Given the description of an element on the screen output the (x, y) to click on. 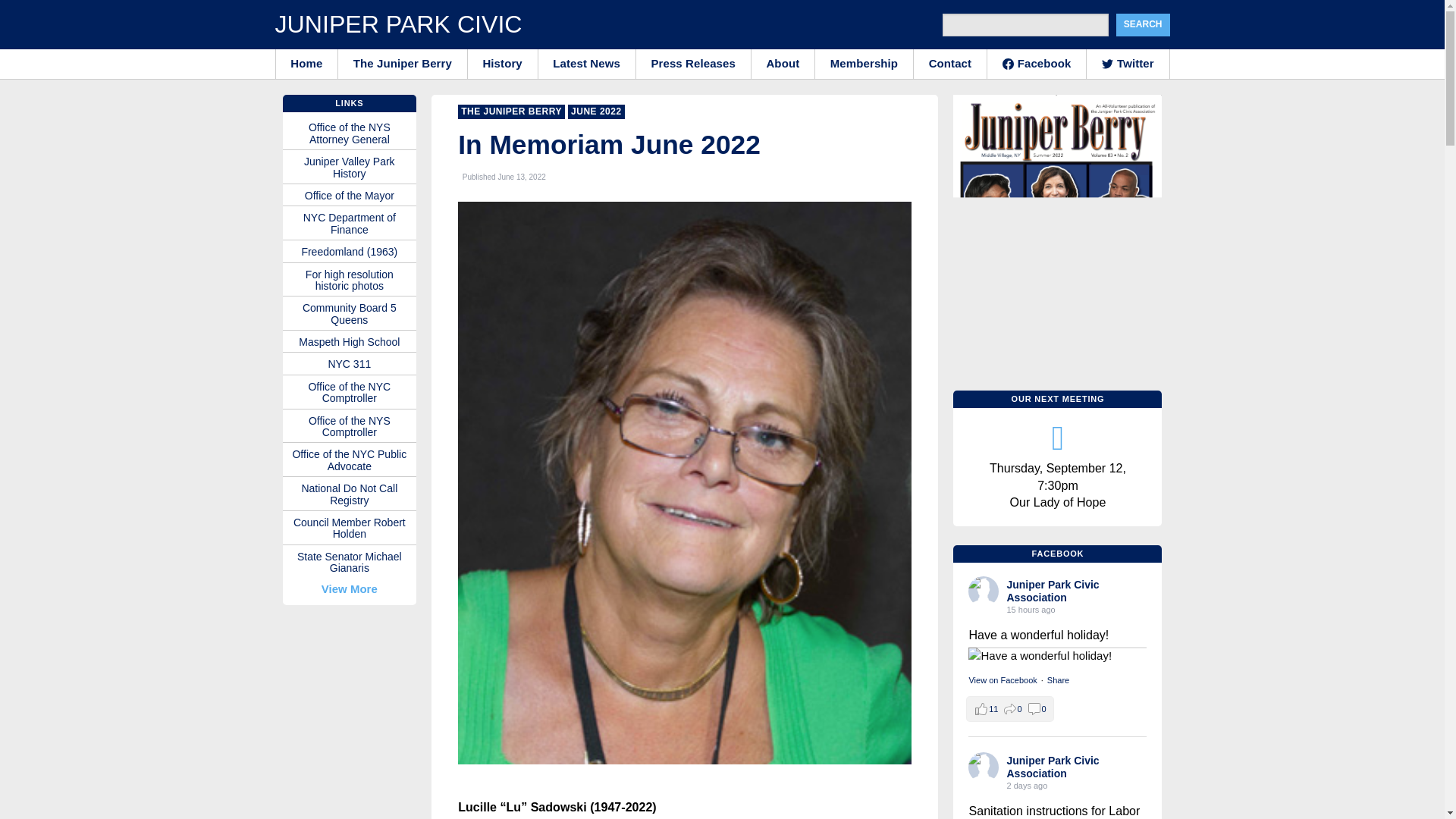
Home (306, 63)
Facebook (1036, 63)
Latest News (586, 63)
Contact (950, 63)
Press Releases (693, 63)
JUNIPER PARK CIVIC (398, 23)
Twitter (1127, 63)
View on Facebook (1002, 679)
Search (1143, 24)
The Juniper Berry (402, 63)
